Given the description of an element on the screen output the (x, y) to click on. 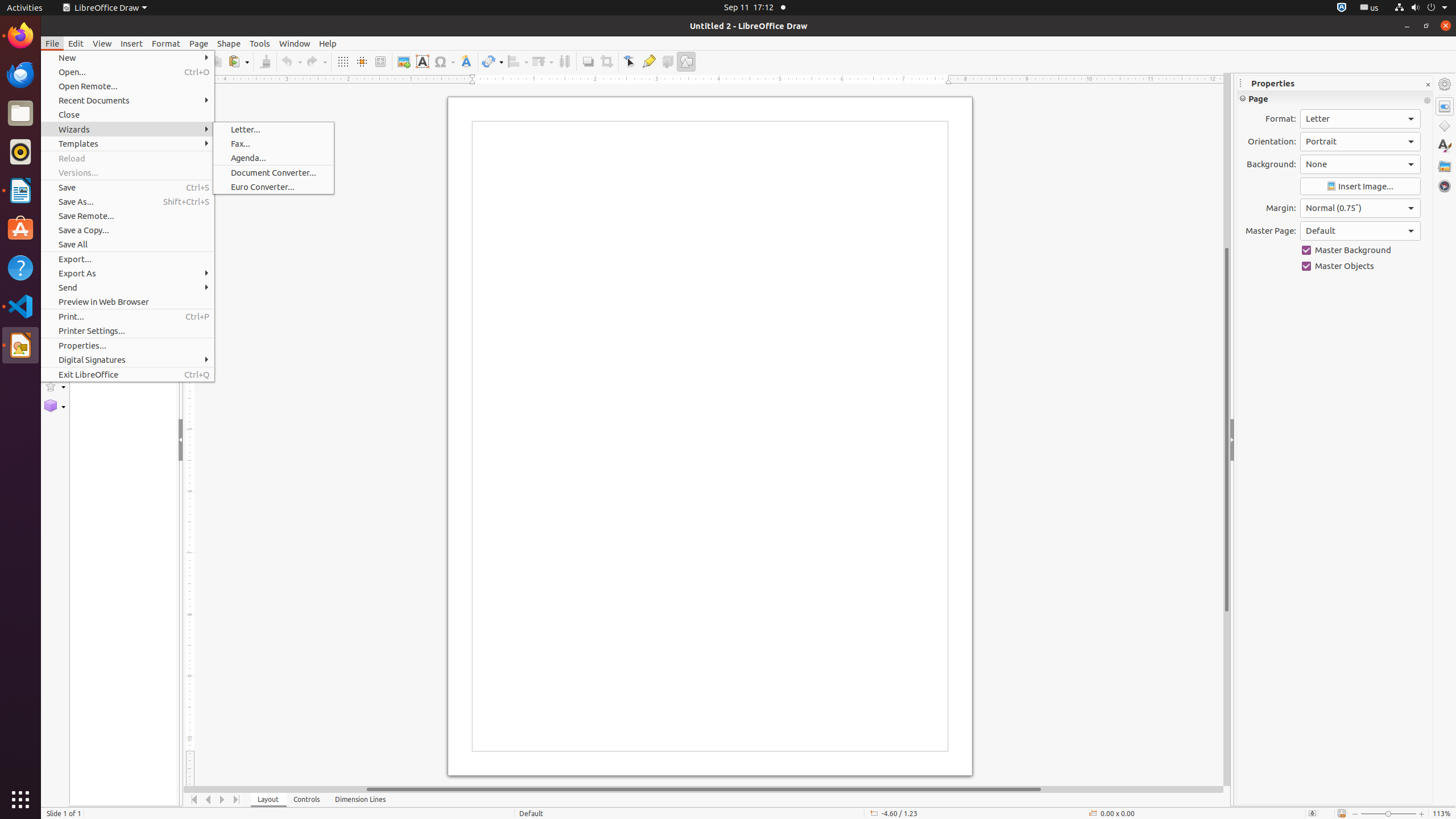
Image Element type: push-button (403, 61)
Printer Settings... Element type: menu-item (127, 330)
Properties Element type: radio-button (1444, 106)
Distribution Element type: push-button (564, 61)
Move Right Element type: push-button (222, 799)
